Given the description of an element on the screen output the (x, y) to click on. 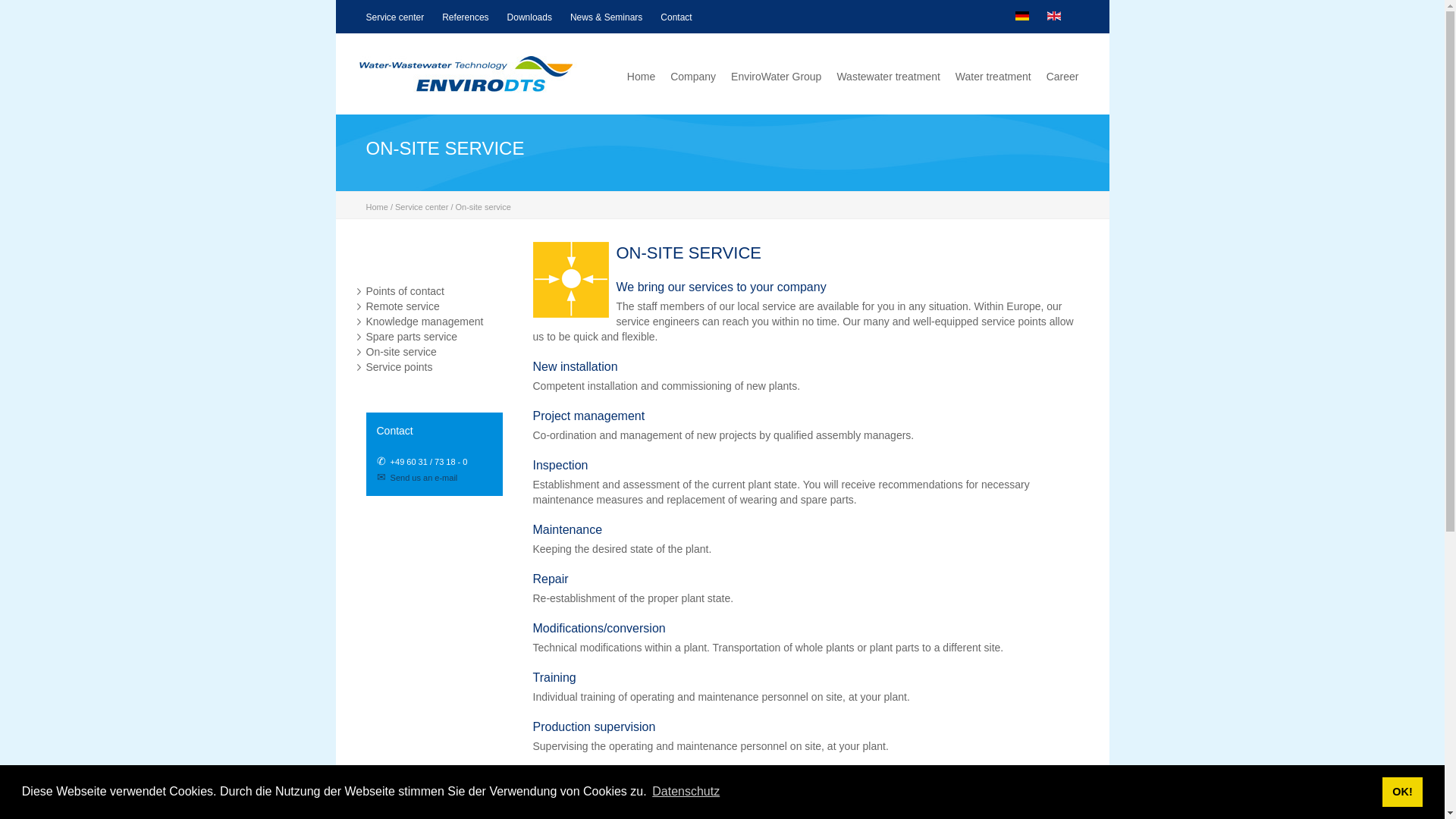
Company (692, 76)
Service center (394, 17)
Datenschutz (685, 791)
Downloads (528, 17)
Wastewater treatment (887, 76)
OK! (1401, 791)
References (464, 17)
Home (641, 76)
EnviroWater Group (775, 76)
Contact (676, 17)
